Given the description of an element on the screen output the (x, y) to click on. 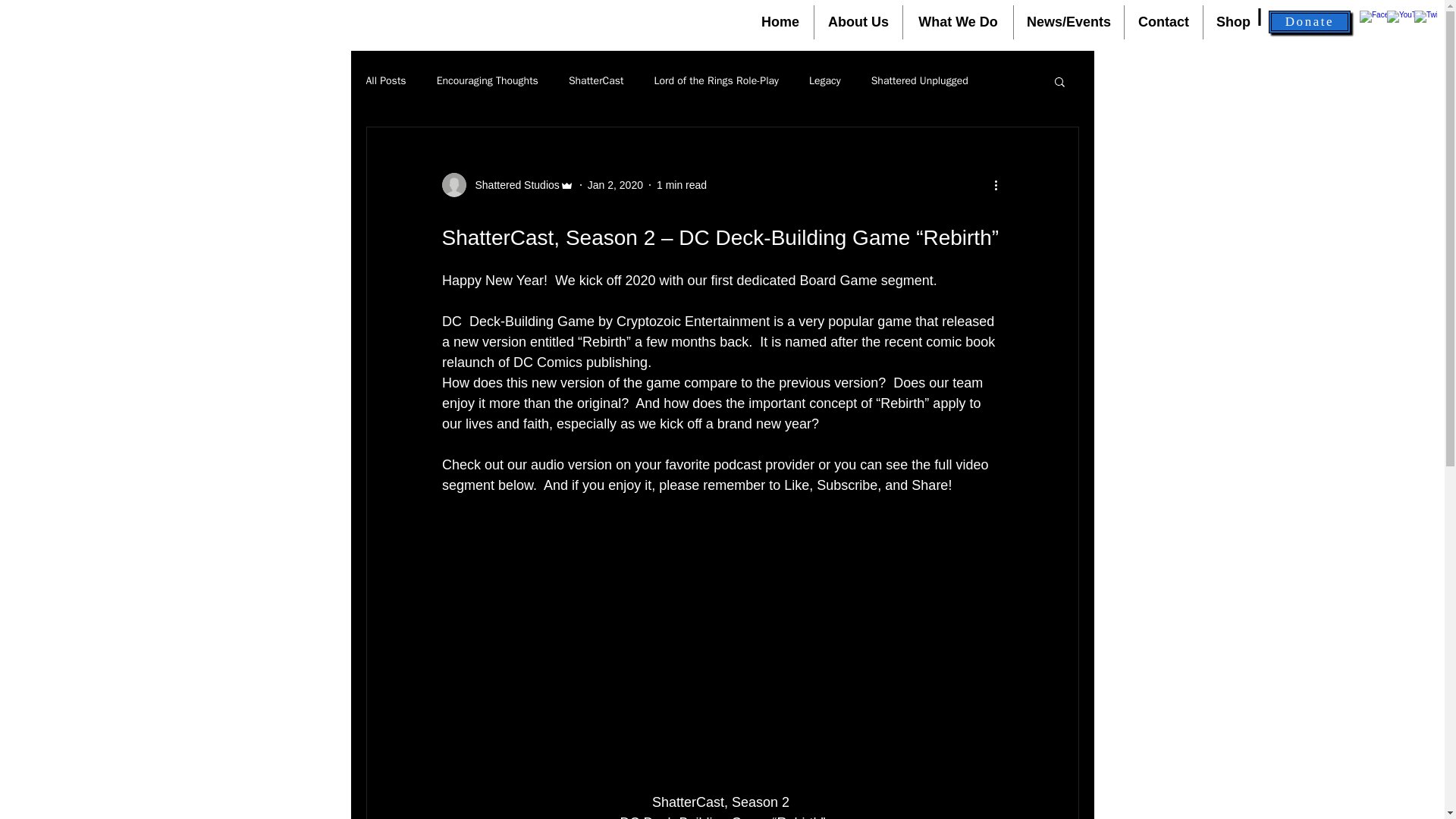
All Posts (385, 80)
Contact (1163, 21)
Encouraging Thoughts (487, 80)
Shattered Studios (512, 185)
Home (779, 21)
Legacy (825, 80)
1 min read (681, 184)
Jan 2, 2020 (615, 184)
Lord of the Rings Role-Play (715, 80)
Donate (1309, 21)
Shattered Unplugged (919, 80)
Shop (1232, 21)
ShatterCast (596, 80)
Shattered Studios (507, 184)
